Given the description of an element on the screen output the (x, y) to click on. 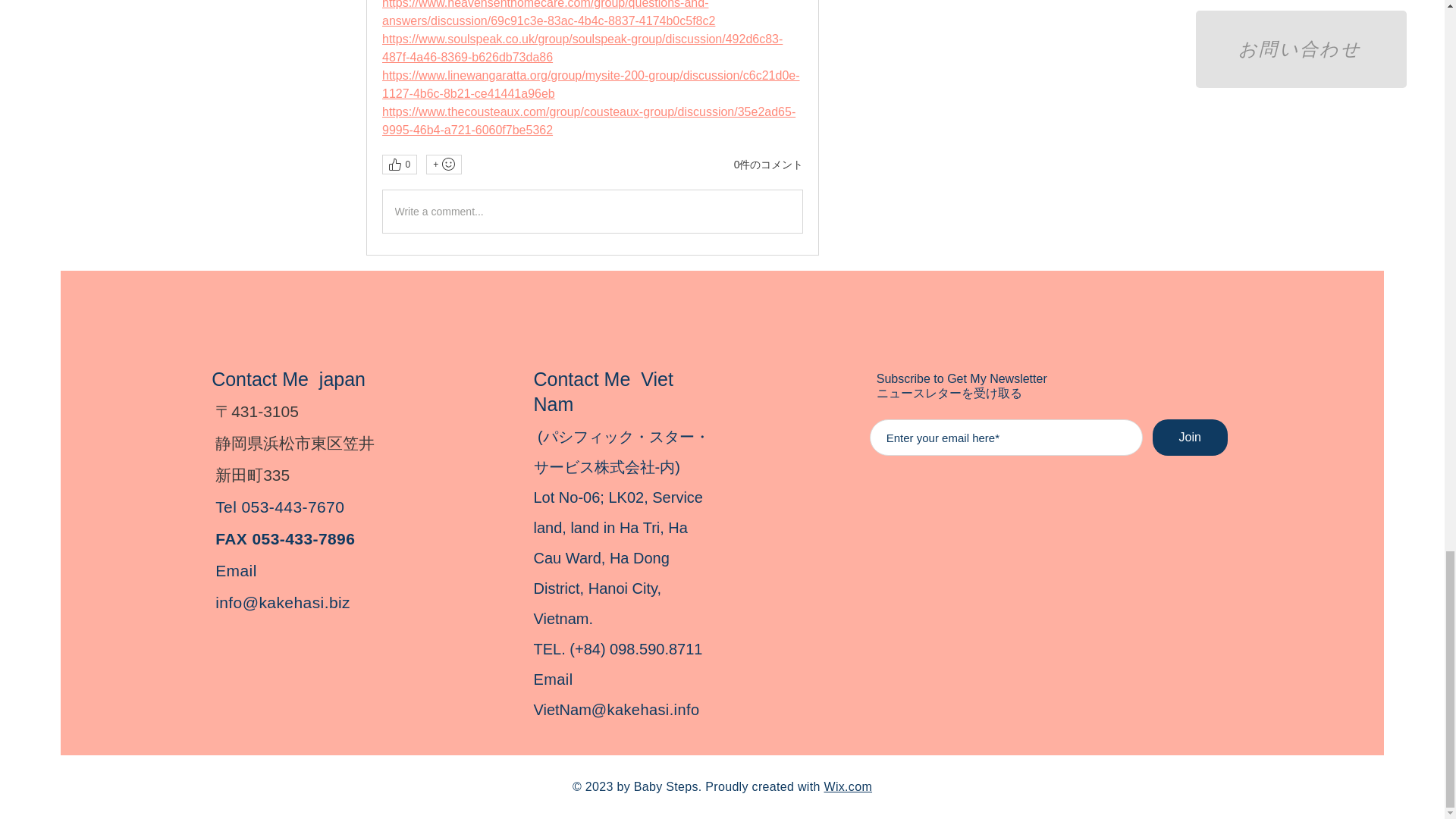
Join (1190, 437)
Write a comment... (591, 211)
